Given the description of an element on the screen output the (x, y) to click on. 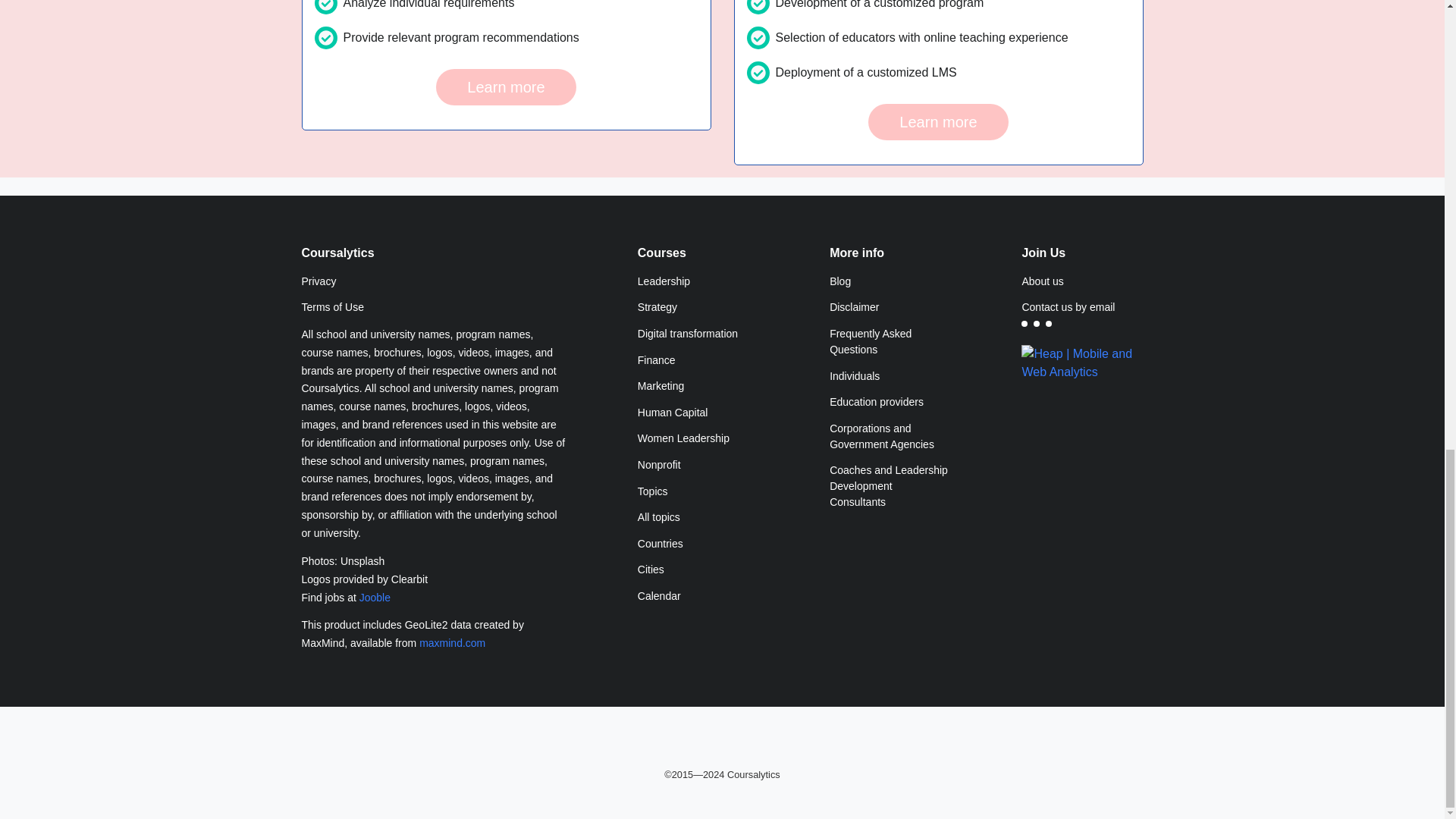
Logos provided by Clearbit (434, 579)
Human Capital (697, 412)
Strategy (697, 307)
Terms of Use (434, 307)
Jooble (374, 597)
Nonprofit (697, 465)
Learn more (505, 86)
Women Leadership (697, 438)
maxmind.com (451, 643)
Privacy (434, 281)
Finance (697, 360)
Marketing (697, 386)
Unsplash (362, 560)
Leadership (697, 281)
Learn more (937, 122)
